Given the description of an element on the screen output the (x, y) to click on. 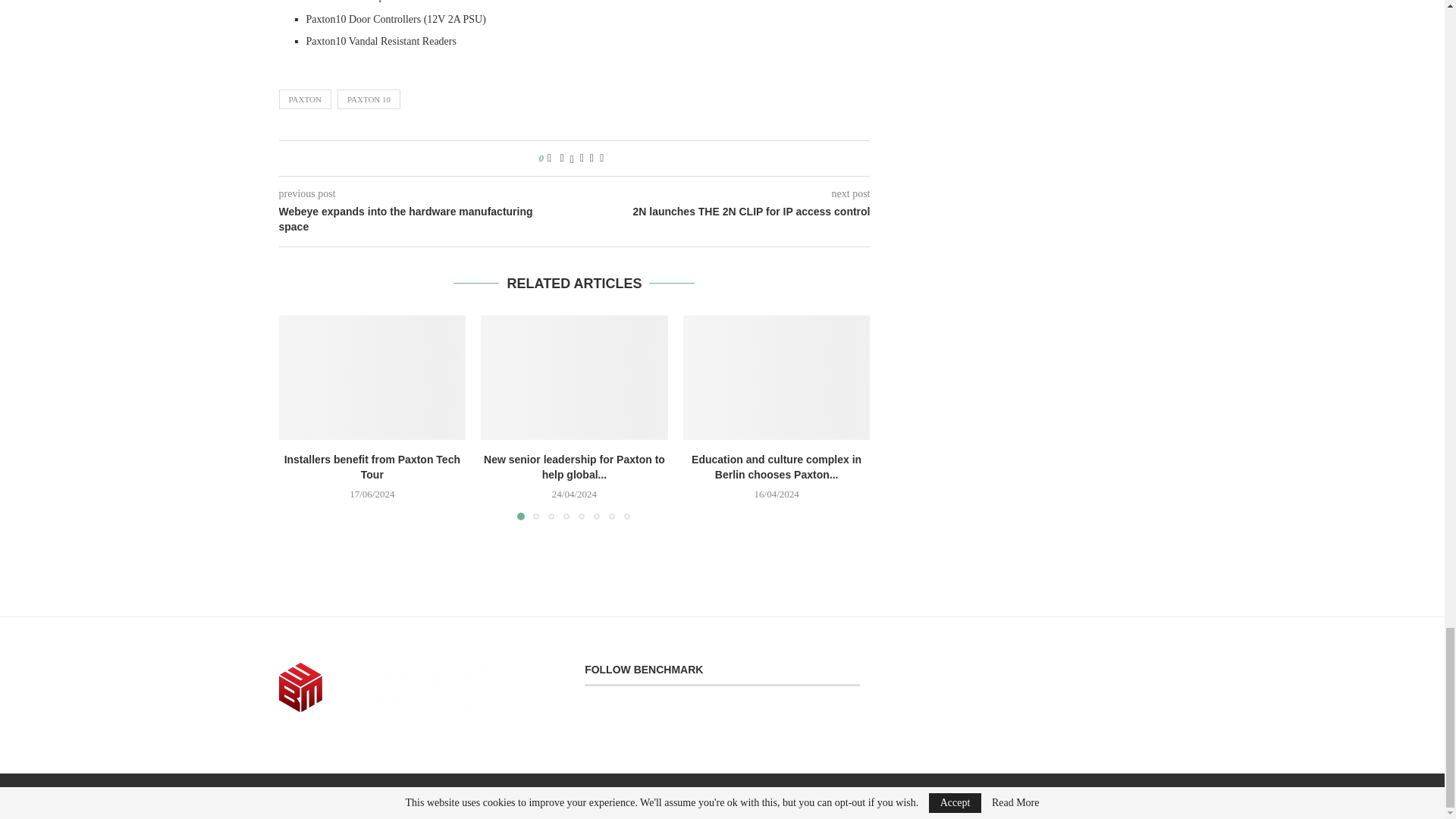
Education and culture complex in Berlin chooses Paxton 10 (776, 377)
PAXTON (305, 98)
PAXTON 10 (368, 98)
New senior leadership for Paxton to help global growth (574, 377)
Installers benefit from Paxton Tech Tour (372, 377)
